Given the description of an element on the screen output the (x, y) to click on. 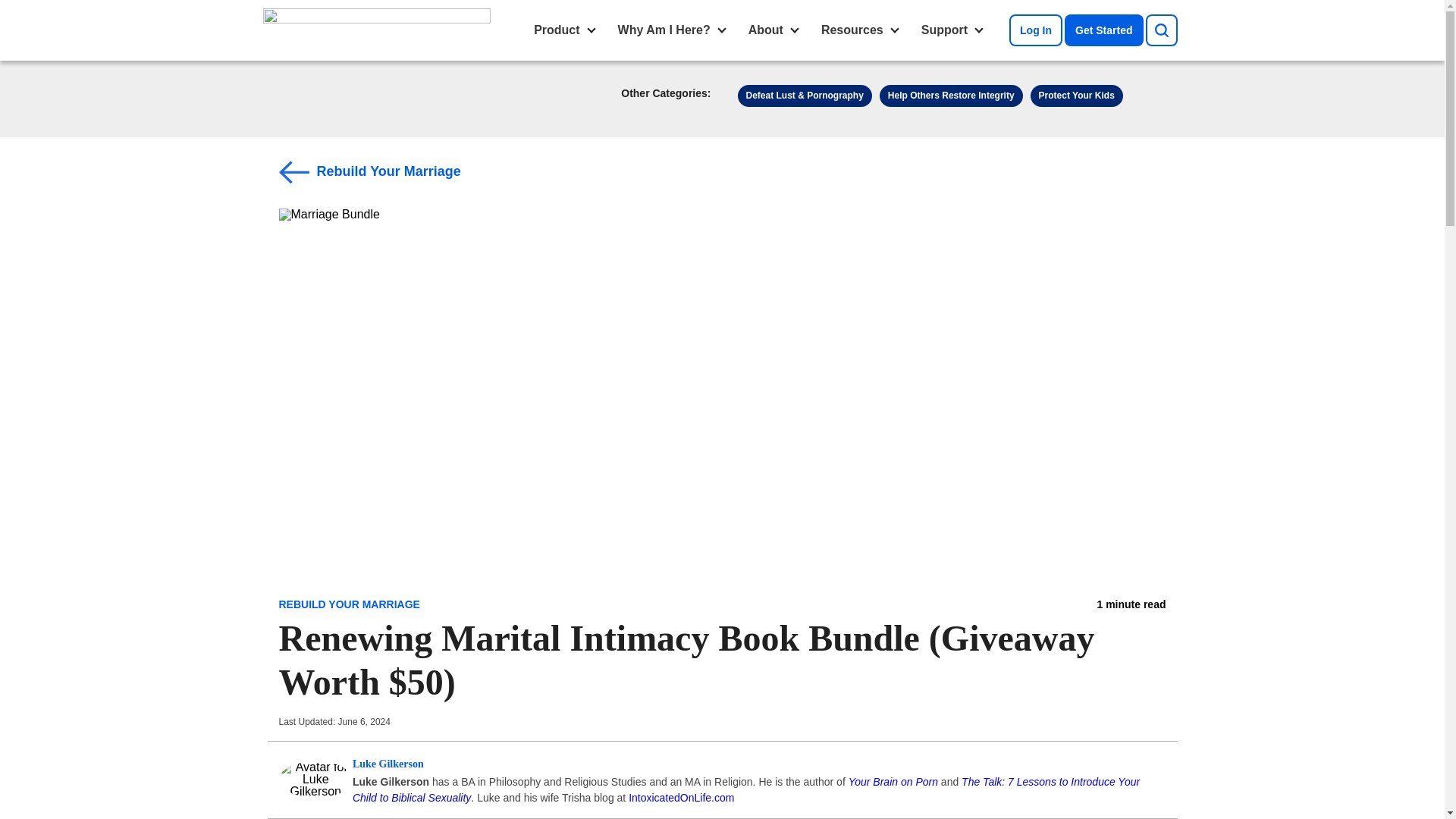
Open menu (794, 29)
Product (556, 30)
Open menu (721, 29)
Open menu (894, 29)
Why Am I Here? (664, 30)
Resources (851, 30)
About (765, 30)
Open menu (590, 29)
Support (944, 30)
